Given the description of an element on the screen output the (x, y) to click on. 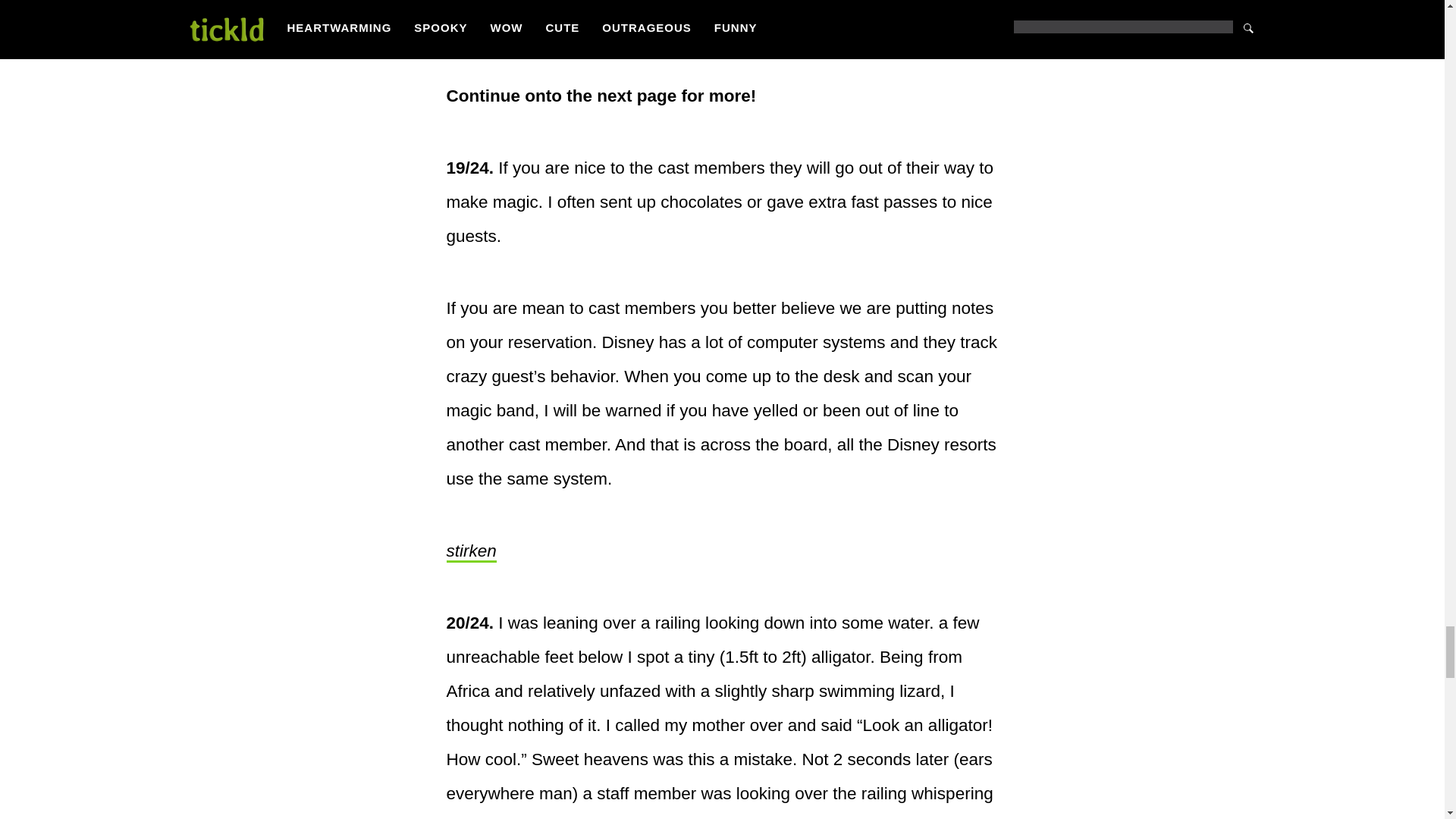
TheWriterGabriel (510, 25)
stirken (470, 551)
